Given the description of an element on the screen output the (x, y) to click on. 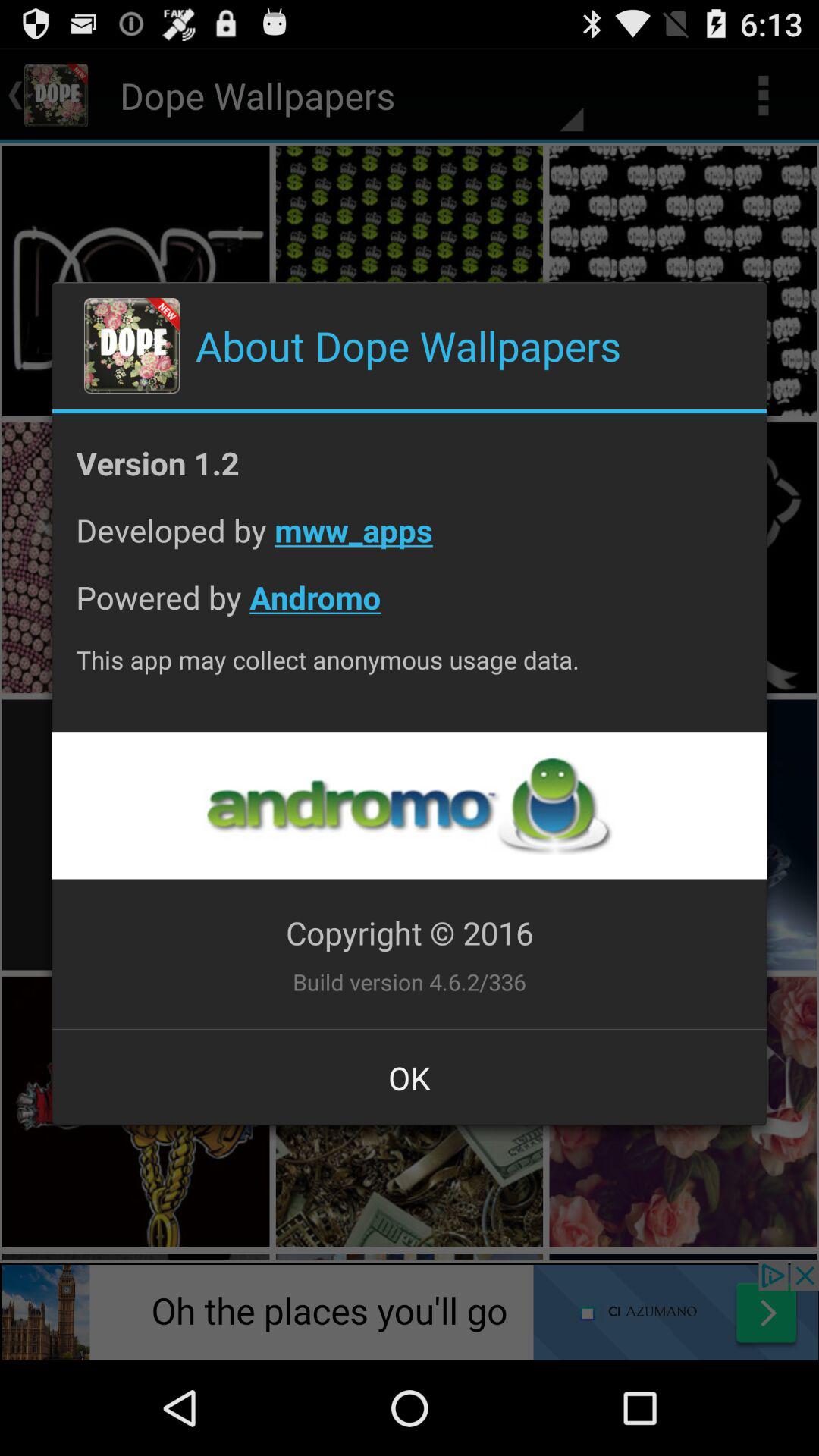
tap the app below developed by mww_apps icon (409, 608)
